Given the description of an element on the screen output the (x, y) to click on. 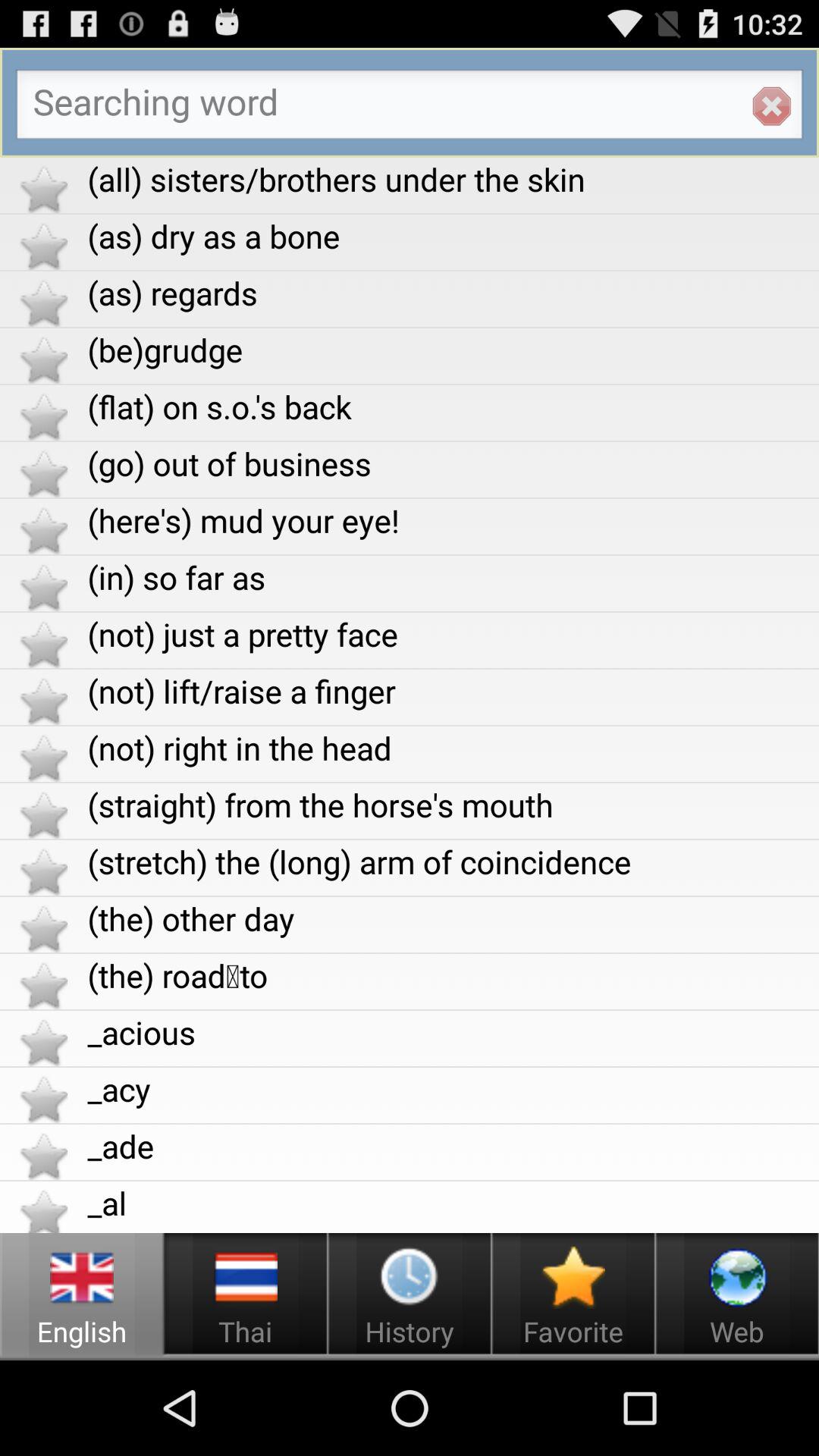
search bar (409, 108)
